Given the description of an element on the screen output the (x, y) to click on. 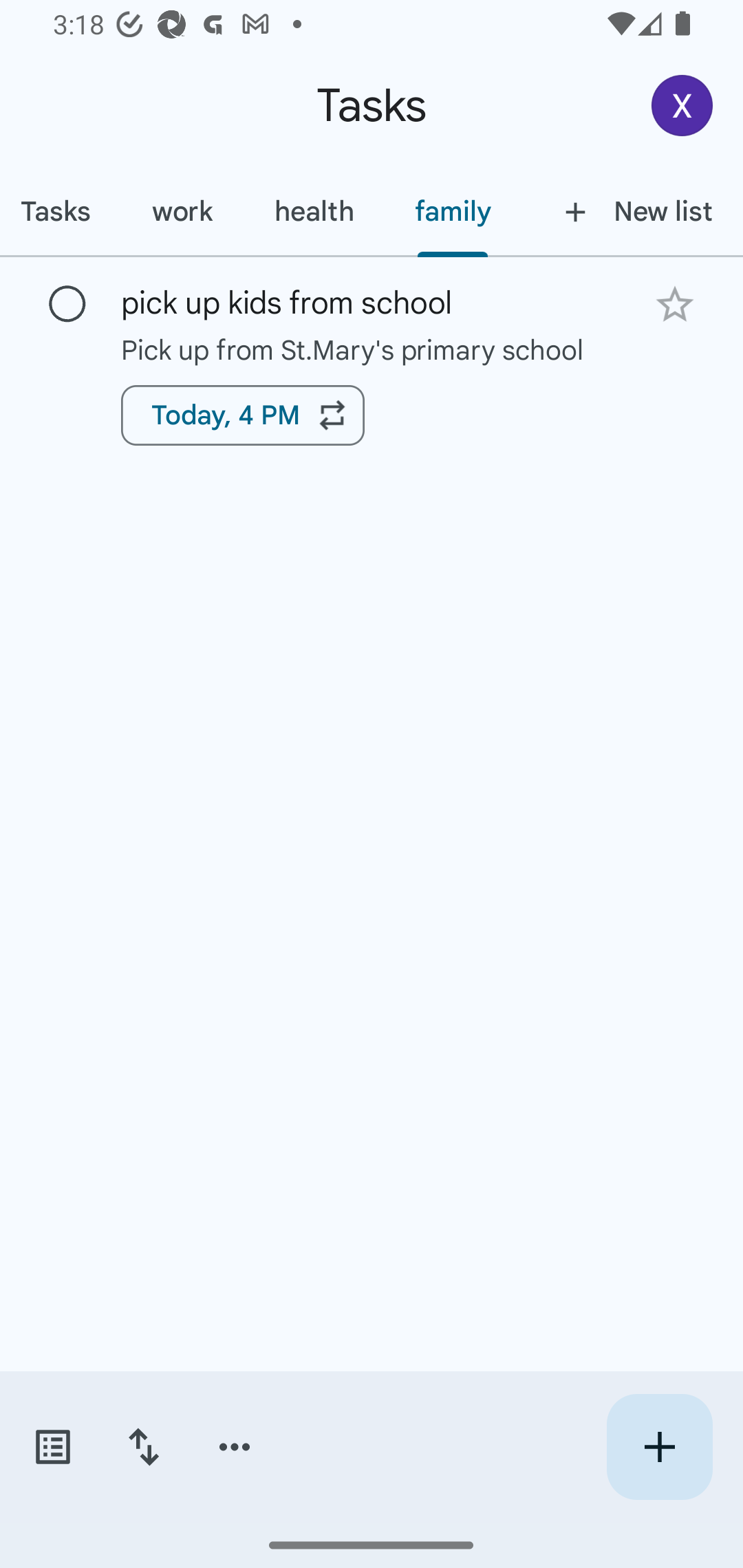
My Tasks (60, 211)
work (182, 211)
health (313, 211)
New list (632, 211)
Add star (674, 303)
Mark as complete (67, 304)
Pick up from St.Mary's primary school (371, 349)
Today, 4 PM (242, 415)
Switch task lists (52, 1447)
Create new task (659, 1446)
Change sort order (143, 1446)
More options (234, 1446)
